Given the description of an element on the screen output the (x, y) to click on. 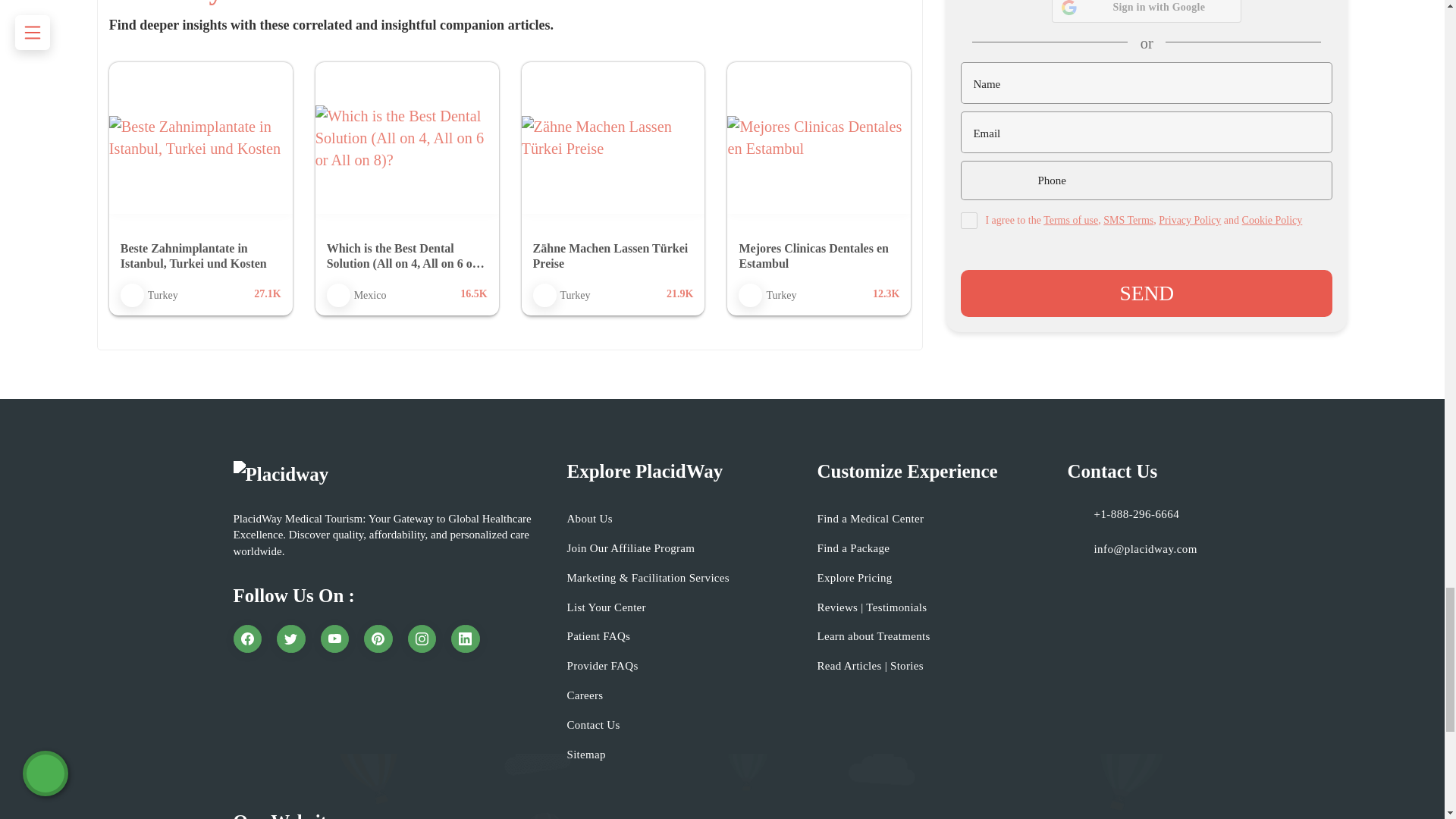
Placidway's Linkedin Account (465, 638)
Placidway's facebook Account (247, 638)
Placidway's Youtube Account (334, 638)
Placidway's Pinterest Account (378, 638)
Placidway's Twitter Account (290, 638)
Placidway's Instagram Account (421, 638)
